Given the description of an element on the screen output the (x, y) to click on. 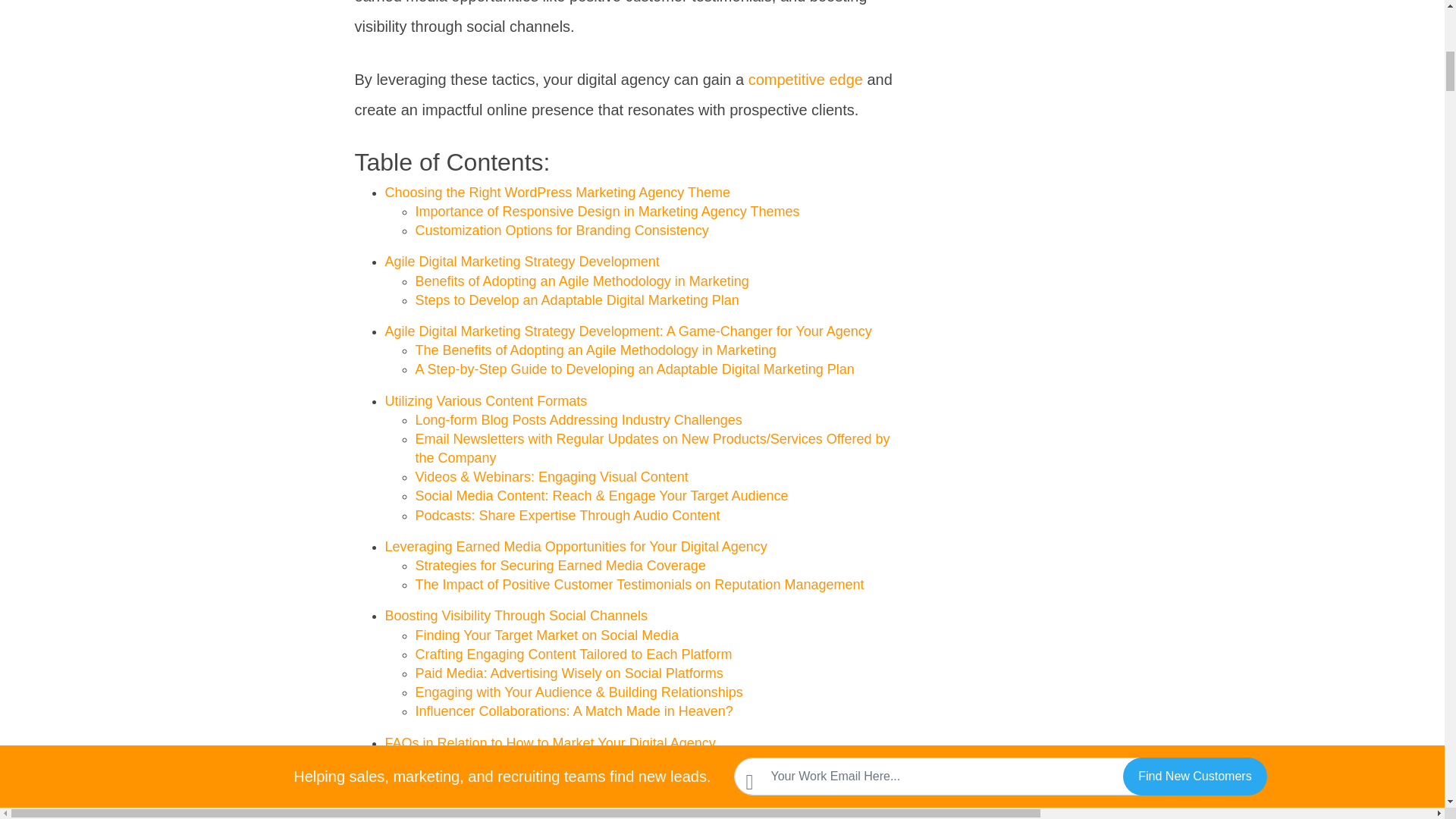
Influencer Collaborations: A Match Made in Heaven? (573, 711)
Finding Your Target Market on Social Media (546, 635)
Importance of Responsive Design in Marketing Agency Themes (606, 211)
Long-form Blog Posts Addressing Industry Challenges (578, 419)
How to Promote Your Agency (503, 780)
Customization Options for Branding Consistency (561, 230)
Crafting Engaging Content Tailored to Each Platform (573, 654)
FAQs in Relation to How to Market Your Digital Agency (550, 743)
Choosing the Right WordPress Marketing Agency Theme (557, 192)
Competitive Edge (805, 79)
Agile Digital Marketing Strategy Development (522, 261)
competitive edge (805, 79)
